Given the description of an element on the screen output the (x, y) to click on. 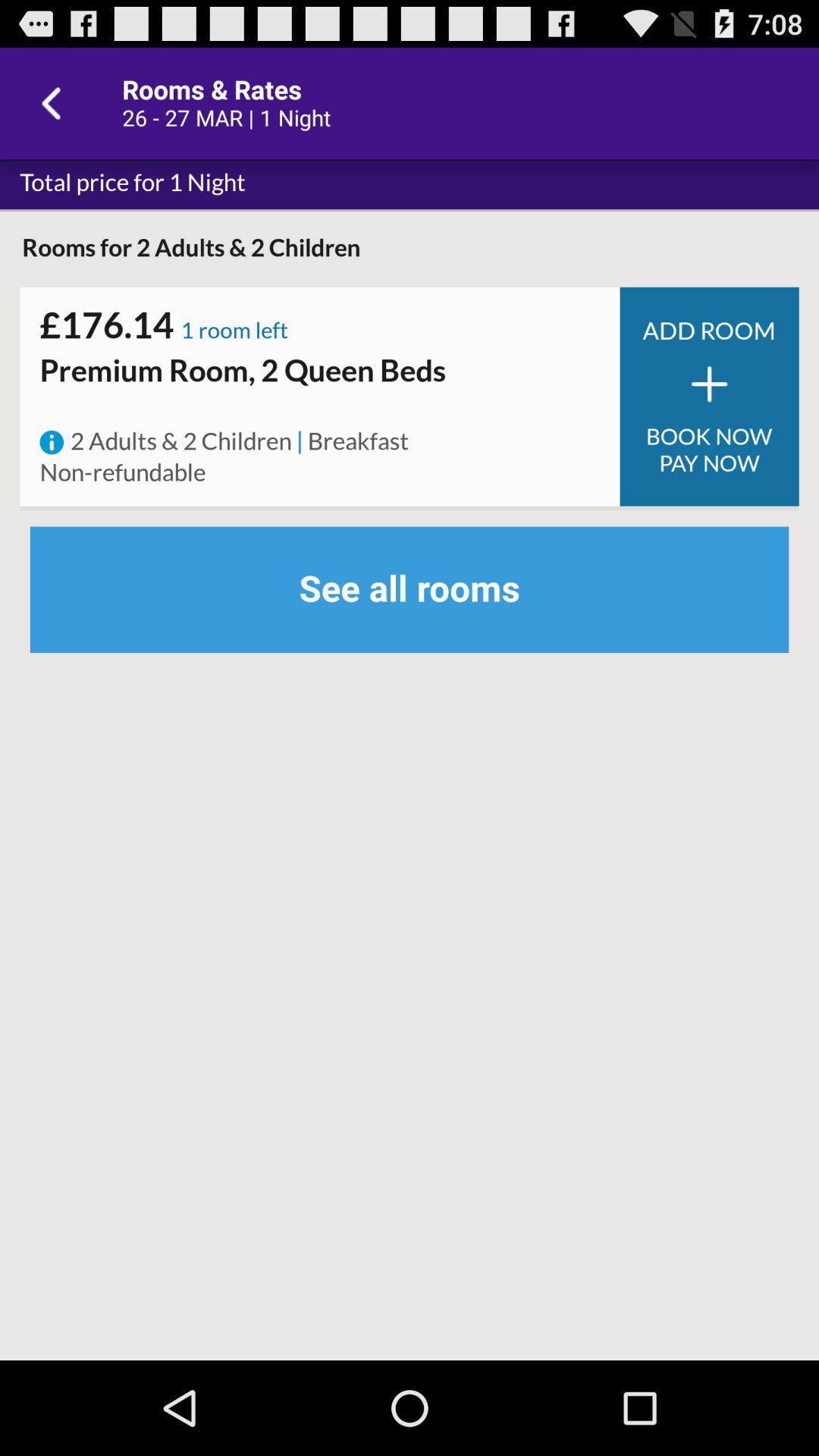
select the item above see all rooms icon (122, 473)
